Given the description of an element on the screen output the (x, y) to click on. 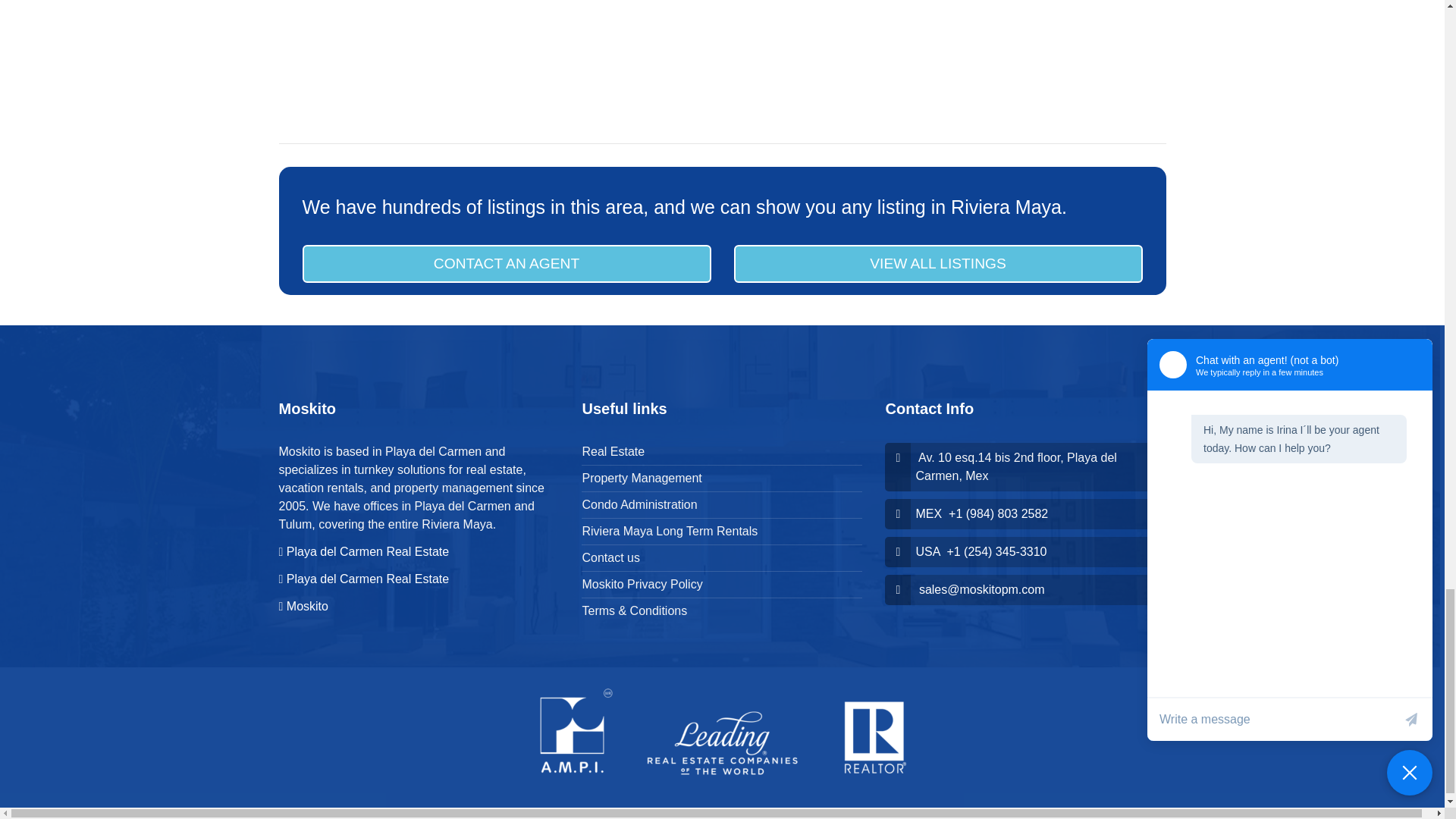
Form 0 (943, 60)
